Given the description of an element on the screen output the (x, y) to click on. 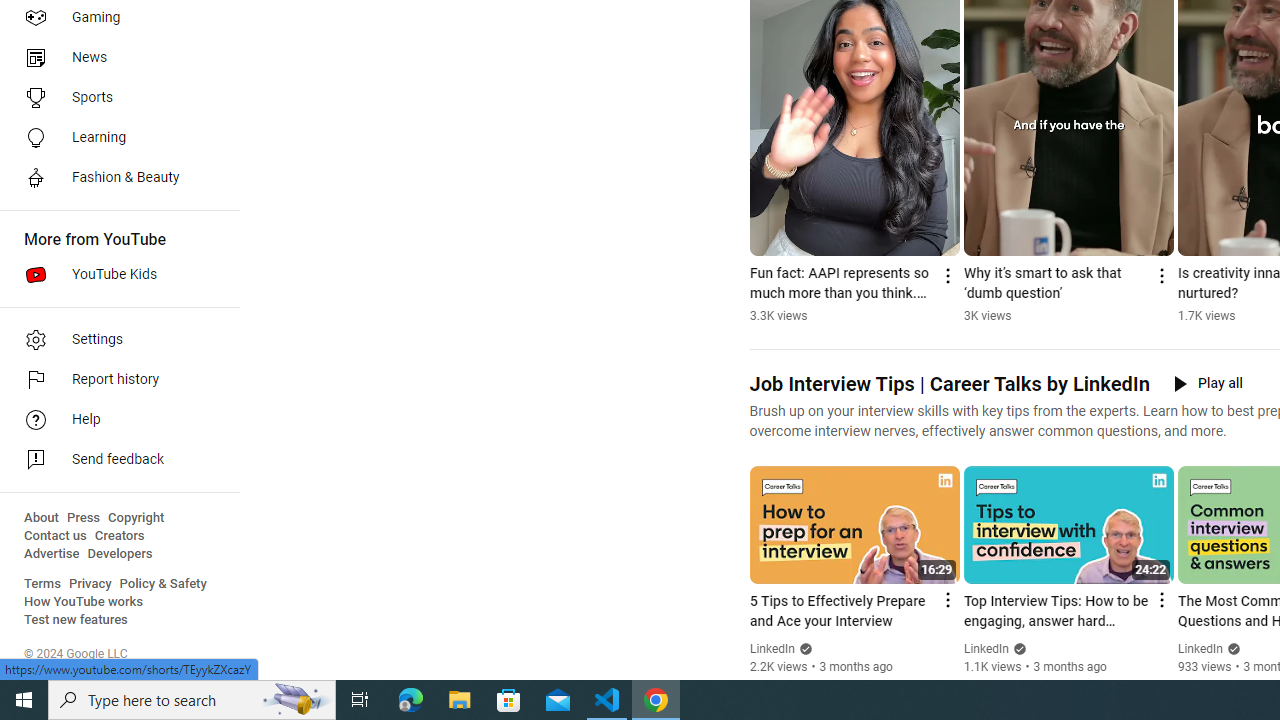
Action menu (1160, 600)
